Given the description of an element on the screen output the (x, y) to click on. 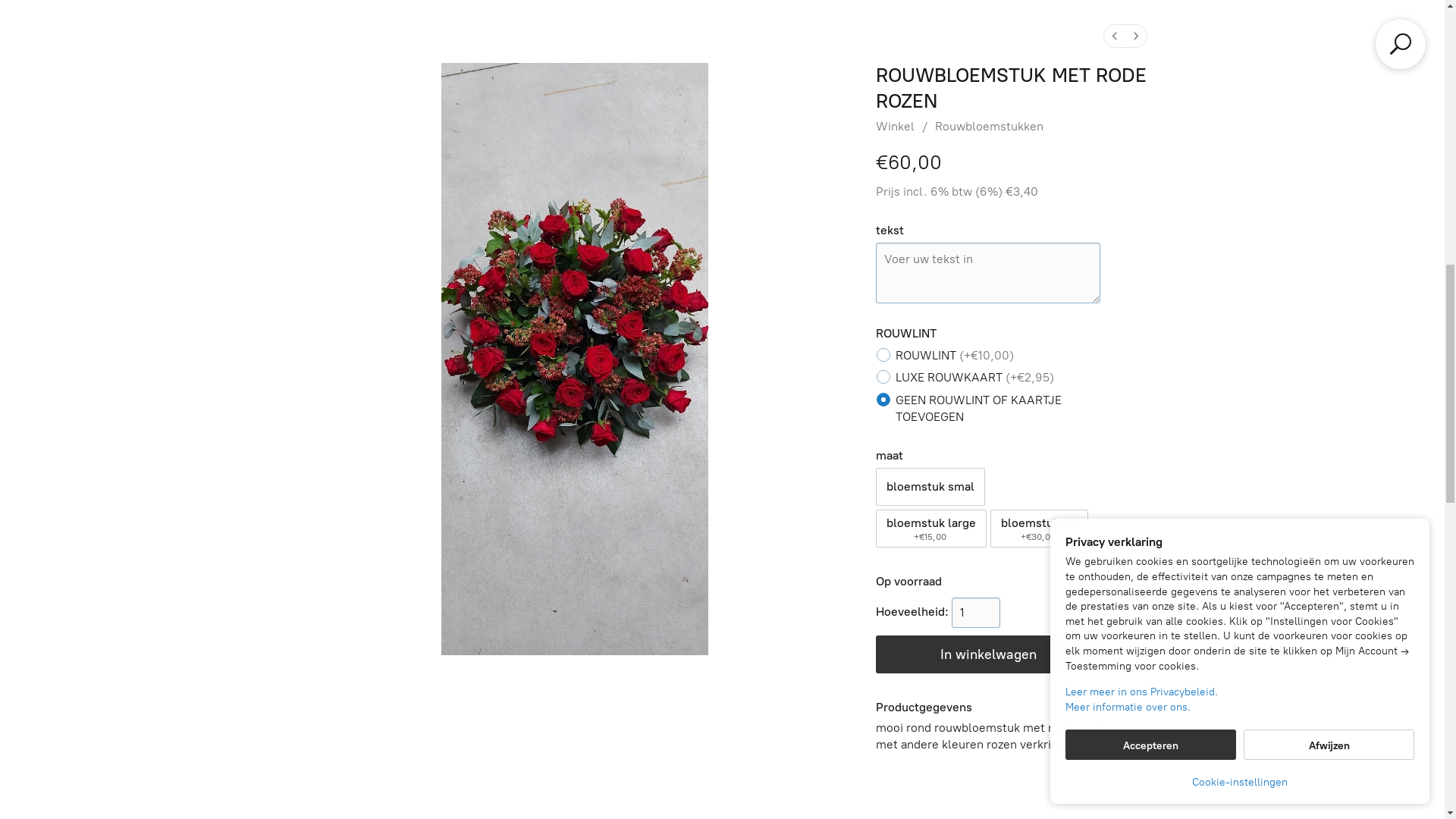
Bestel vanaf nu ook online! Element type: text (138, 571)
Onze webshop Element type: text (721, 758)
